Given the description of an element on the screen output the (x, y) to click on. 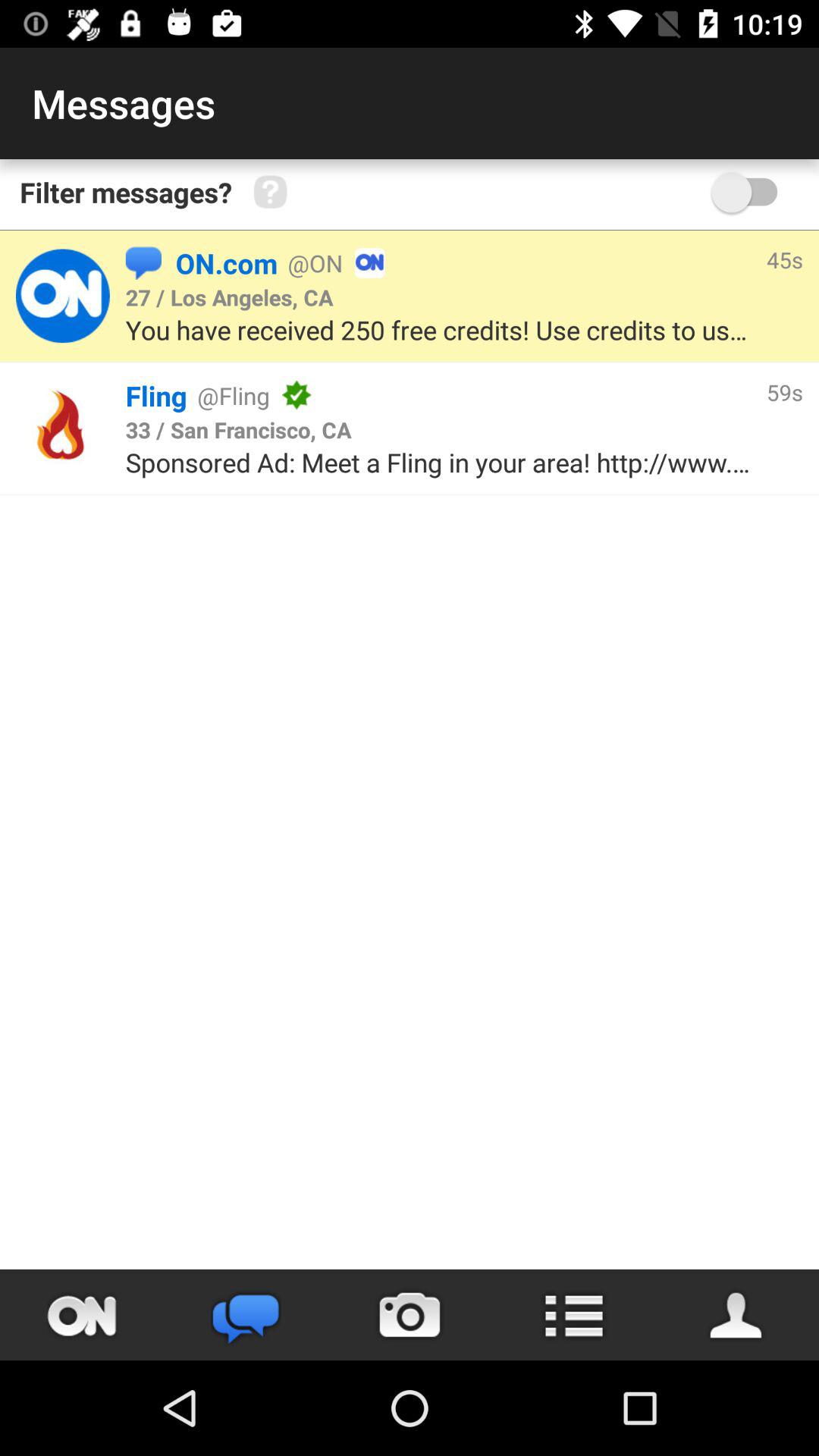
turn off item above the you have received item (571, 262)
